Given the description of an element on the screen output the (x, y) to click on. 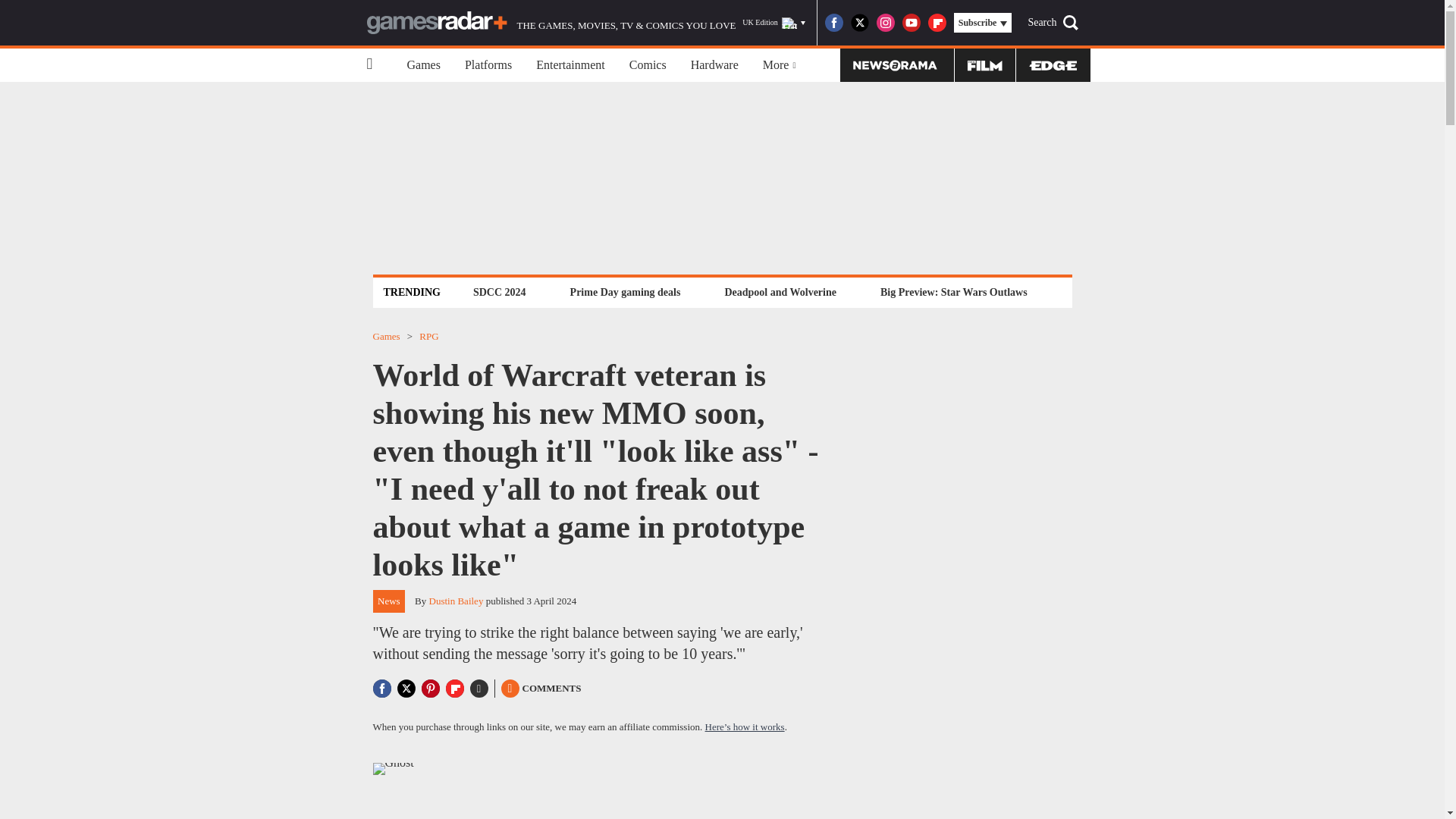
Platforms (488, 64)
Comics (647, 64)
Games (422, 64)
Entertainment (570, 64)
Deadpool and Wolverine (780, 292)
SDCC 2024 (499, 292)
UK Edition (773, 22)
Big Preview: Star Wars Outlaws (953, 292)
Hardware (714, 64)
Prime Day gaming deals (624, 292)
